Given the description of an element on the screen output the (x, y) to click on. 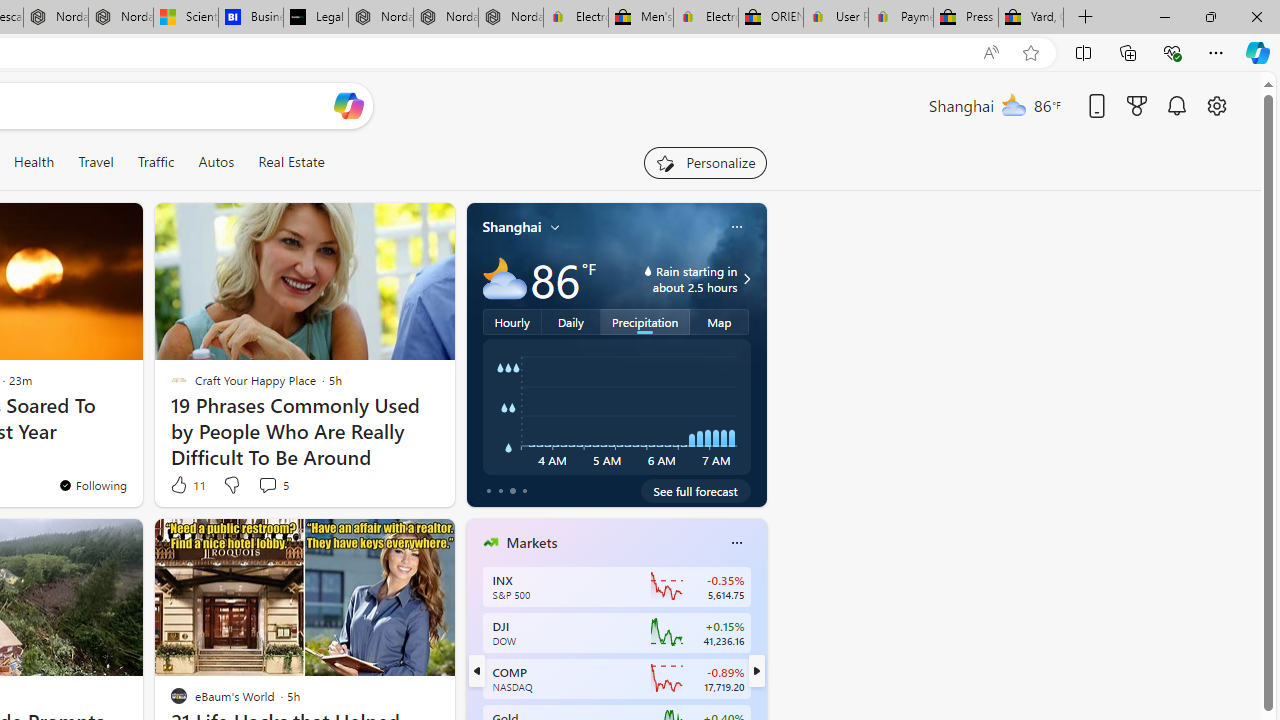
11 Like (186, 484)
You're following The Weather Channel (92, 485)
